Given the description of an element on the screen output the (x, y) to click on. 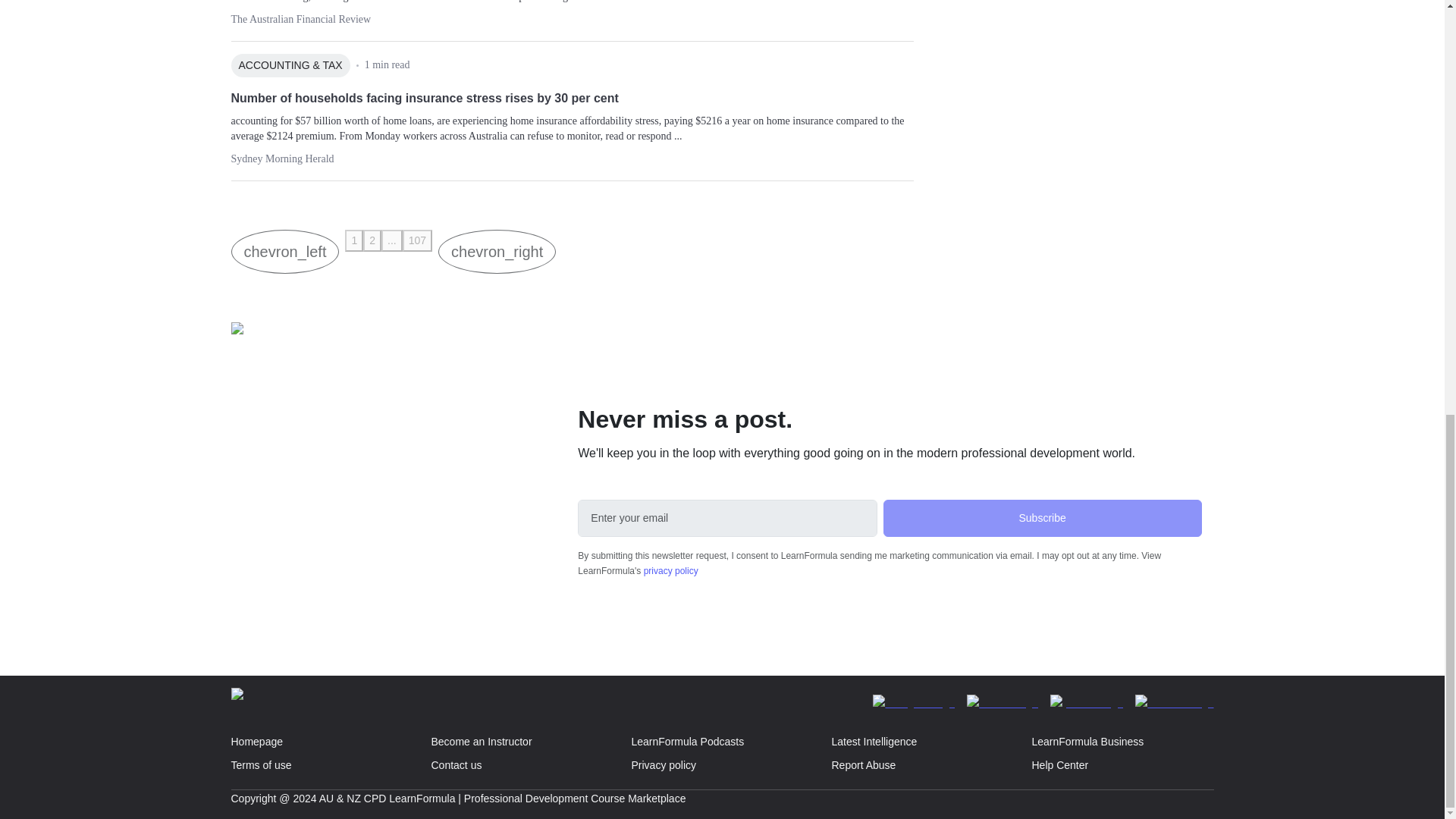
... (392, 240)
Become an Instructor (521, 741)
Subscribe (1042, 518)
107 (417, 240)
privacy policy (670, 570)
LearnFormula Podcasts (721, 741)
Homepage (321, 741)
